Given the description of an element on the screen output the (x, y) to click on. 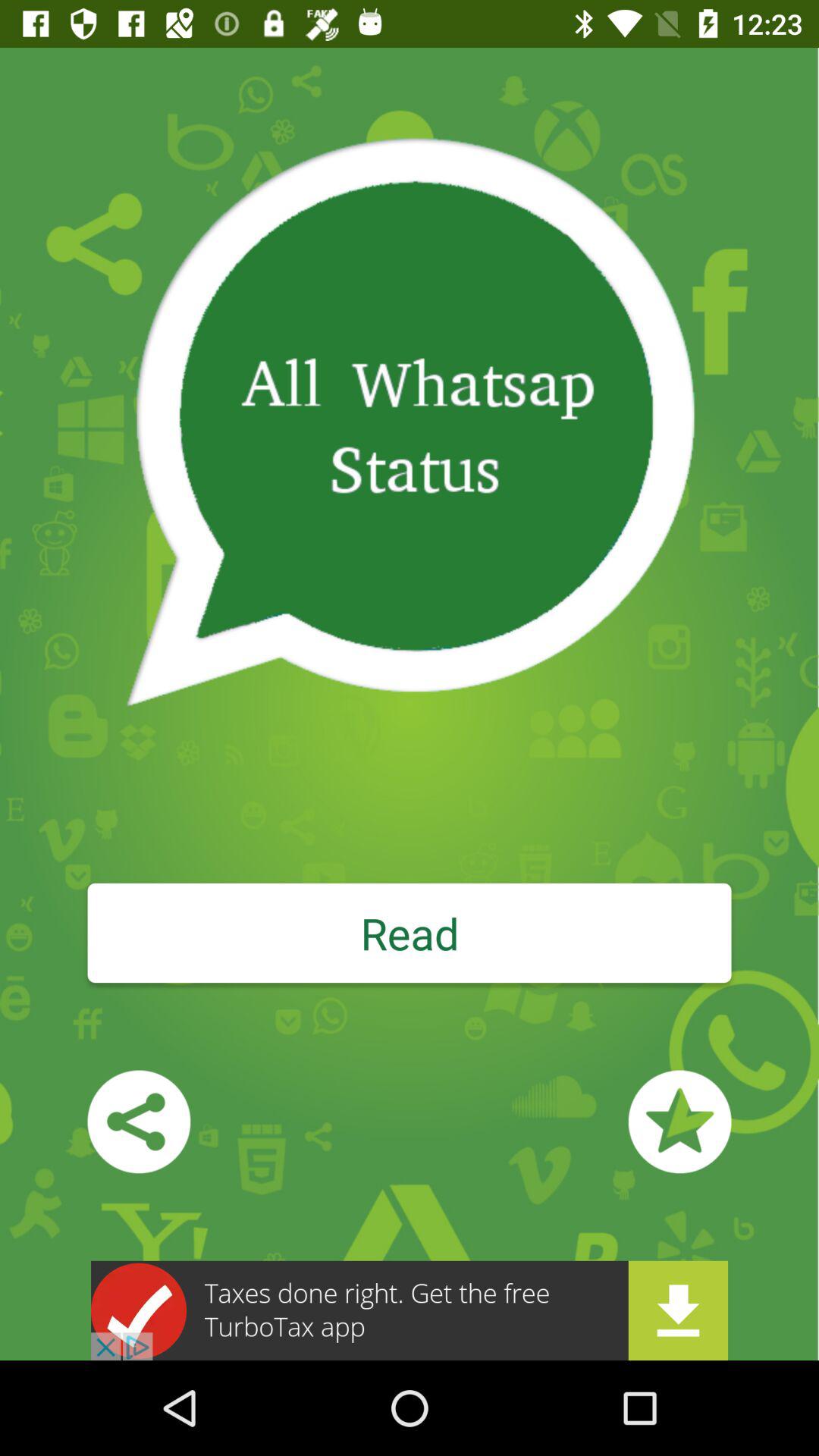
share the app (138, 1121)
